Given the description of an element on the screen output the (x, y) to click on. 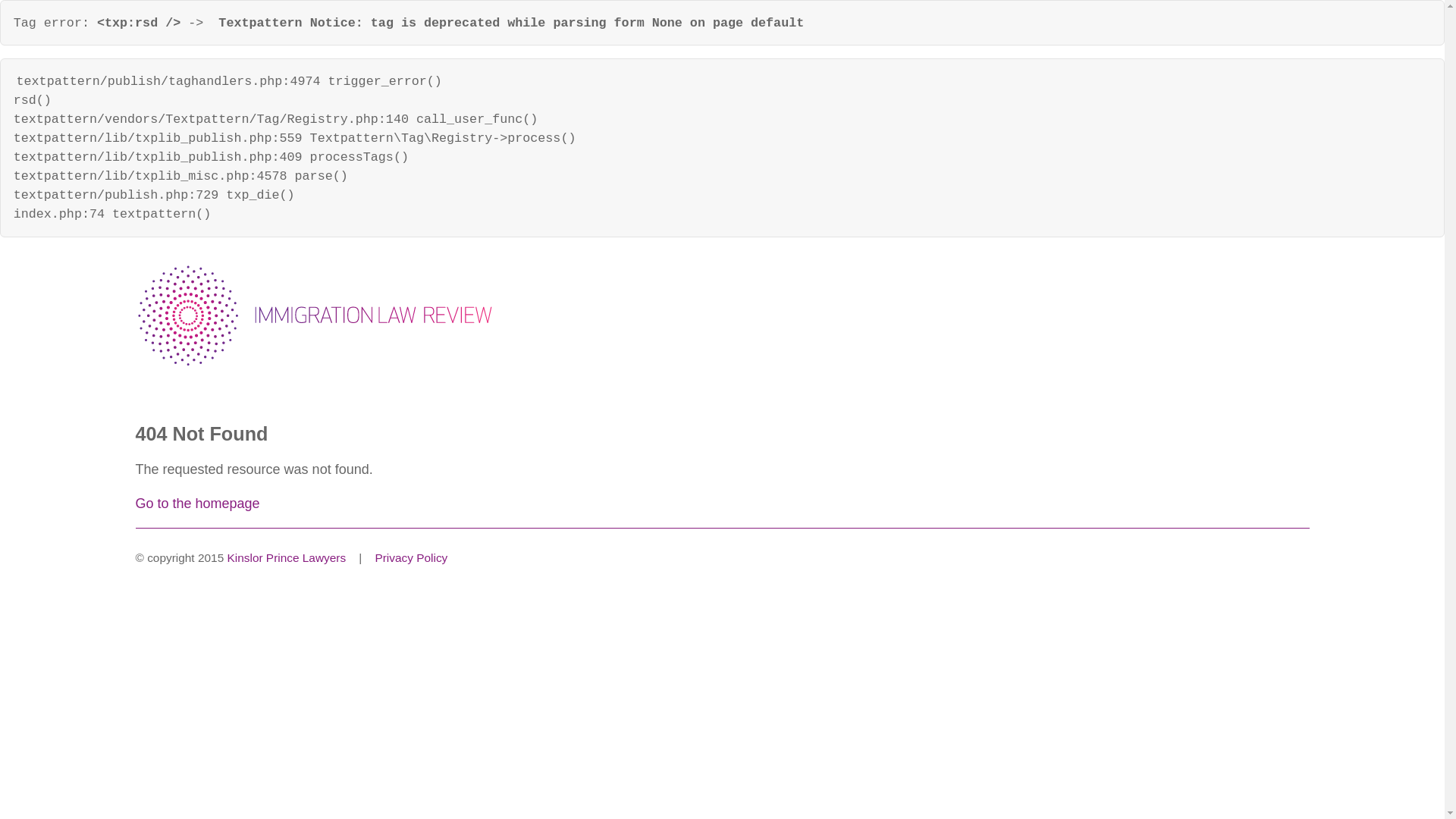
Privacy Policy Element type: text (410, 557)
Go to the homepage Element type: text (196, 503)
Kinslor Prince Lawyers Element type: text (285, 557)
